Given the description of an element on the screen output the (x, y) to click on. 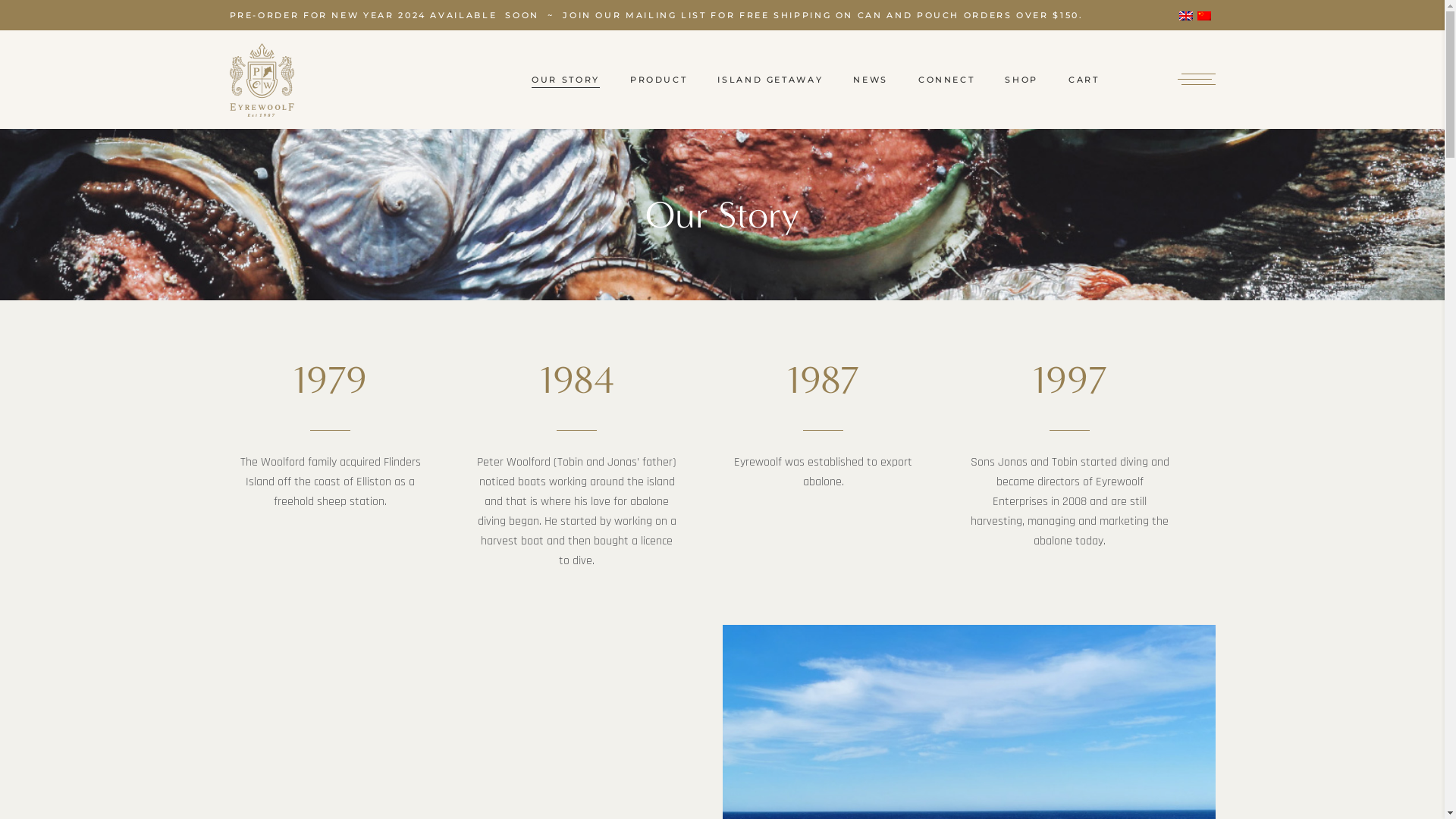
PRODUCT Element type: text (658, 79)
CONNECT Element type: text (946, 79)
SHOP Element type: text (1021, 79)
CART Element type: text (1083, 79)
ISLAND GETAWAY Element type: text (769, 79)
OUR STORY Element type: text (565, 79)
NEWS Element type: text (870, 79)
